Given the description of an element on the screen output the (x, y) to click on. 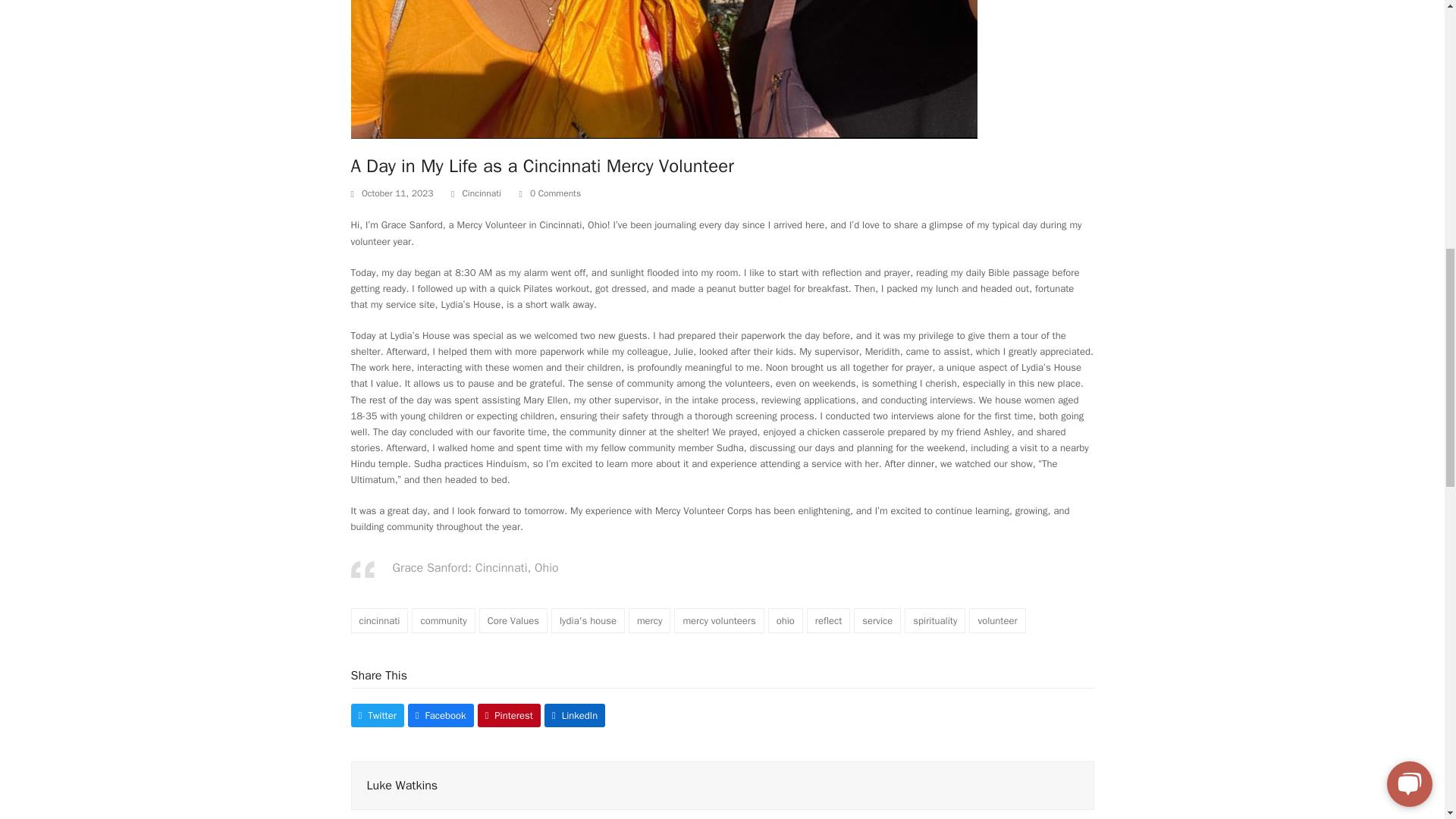
0 Comments (549, 193)
Visit Author Page (402, 785)
